Given the description of an element on the screen output the (x, y) to click on. 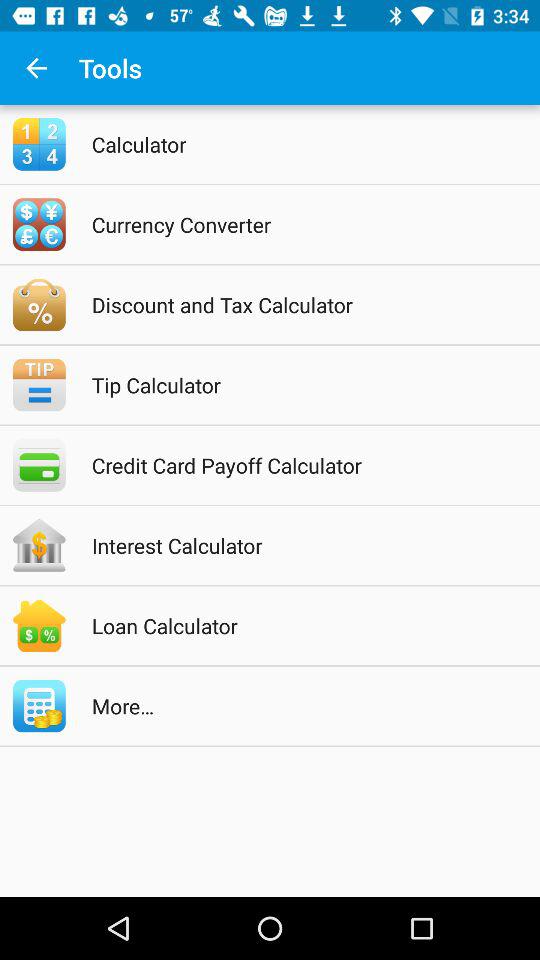
flip until currency converter (295, 224)
